Given the description of an element on the screen output the (x, y) to click on. 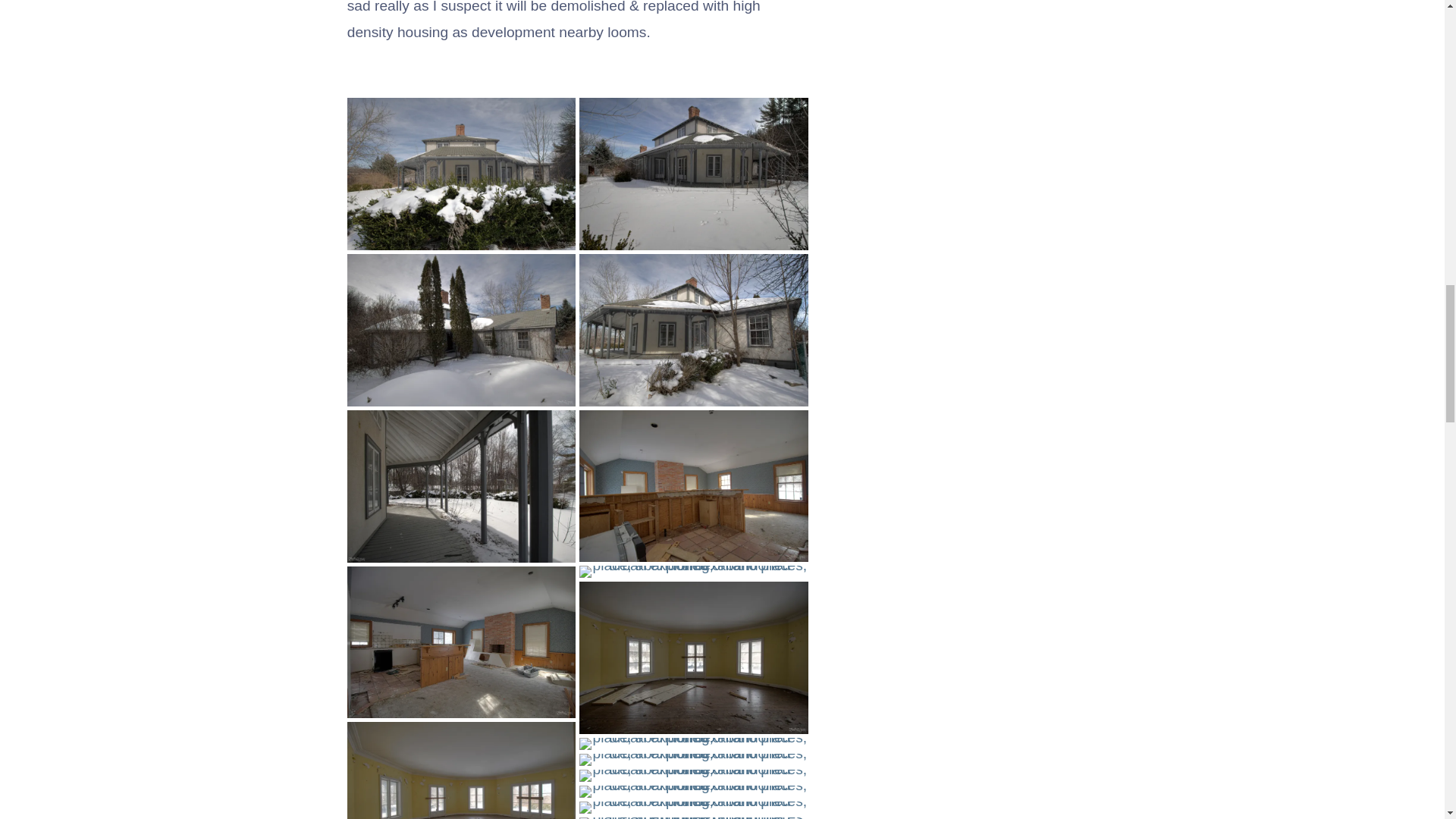
Abandoned Country Manor (461, 329)
Abandoned Country Manor (461, 486)
Abandoned Country Manor (461, 770)
Abandoned Country Manor (461, 173)
Abandoned Country Manor (461, 642)
